Given the description of an element on the screen output the (x, y) to click on. 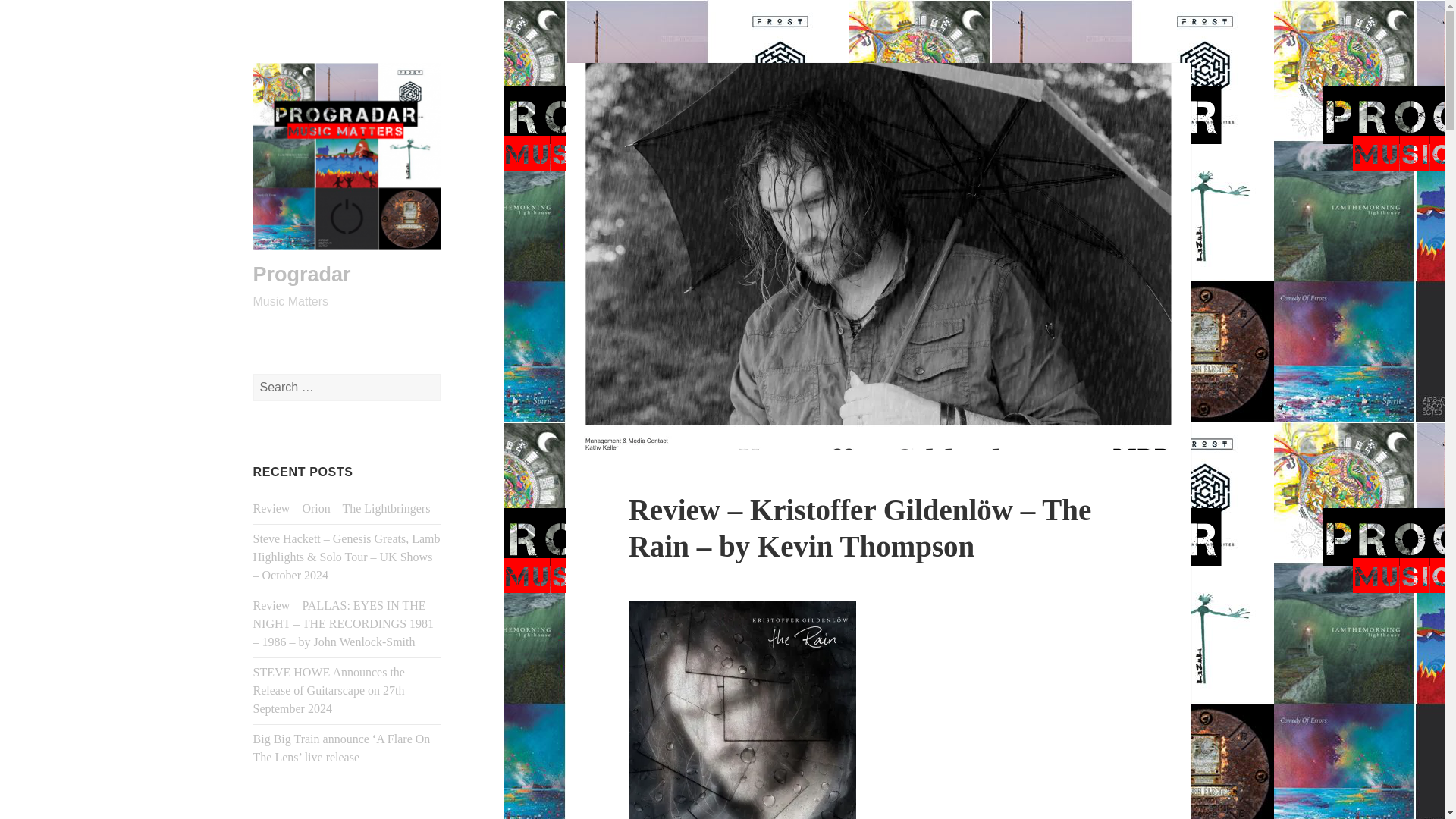
Progradar (301, 273)
